Given the description of an element on the screen output the (x, y) to click on. 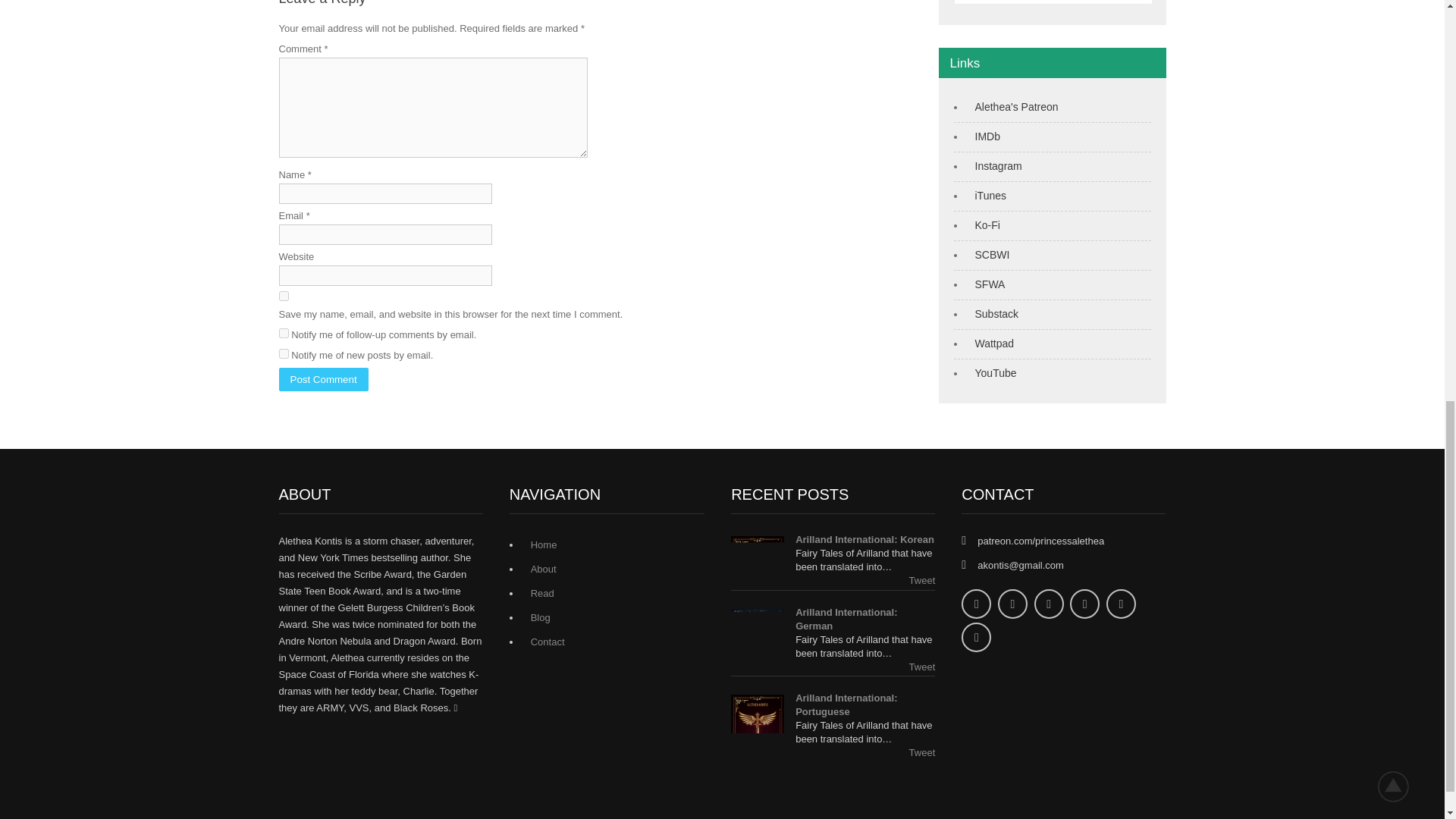
Post Comment (323, 379)
yes (283, 296)
Science Fiction Writers of America (987, 284)
subscribe (283, 333)
subscribe (283, 353)
